Given the description of an element on the screen output the (x, y) to click on. 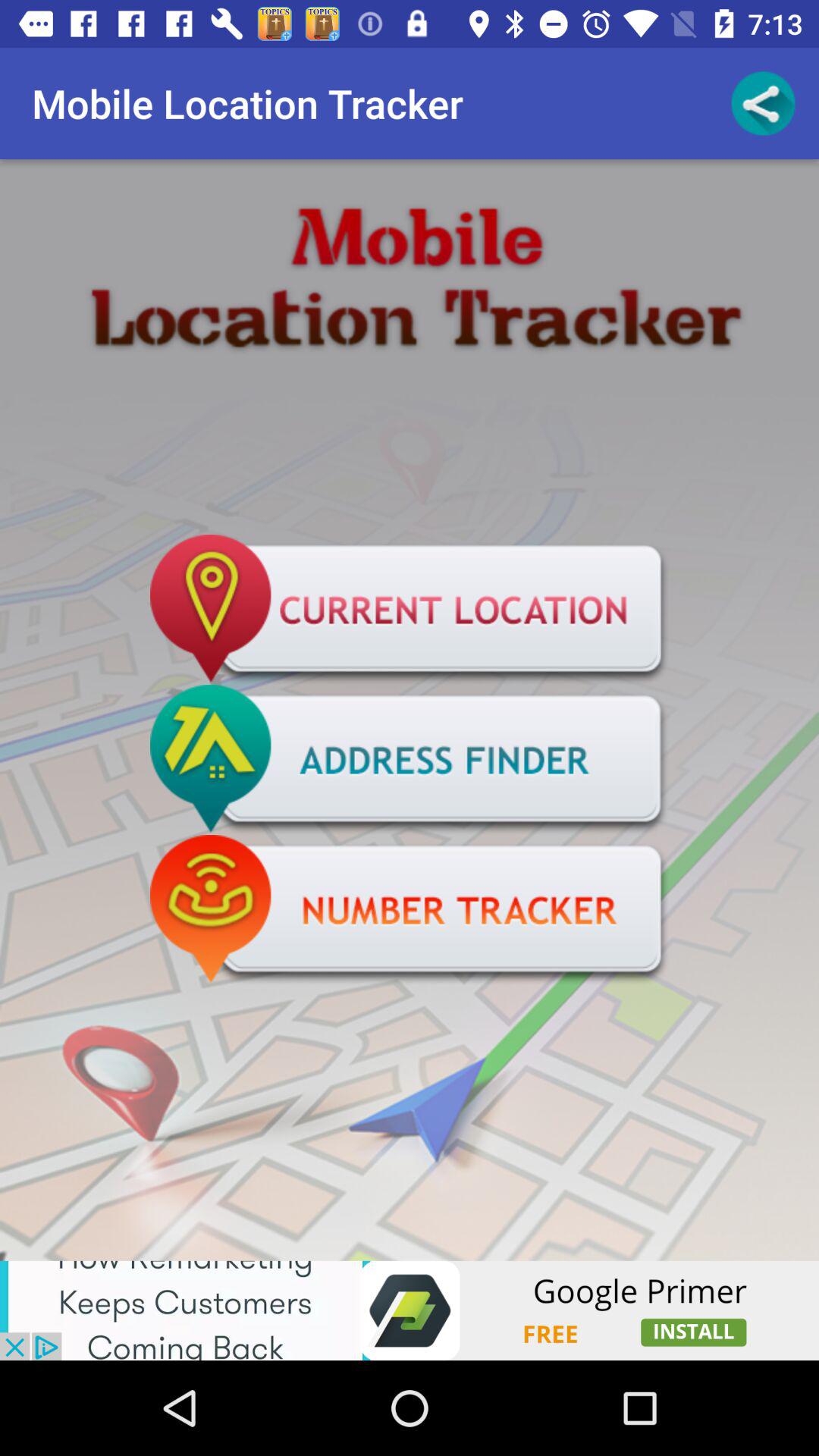
go to the number tracker (409, 909)
